Given the description of an element on the screen output the (x, y) to click on. 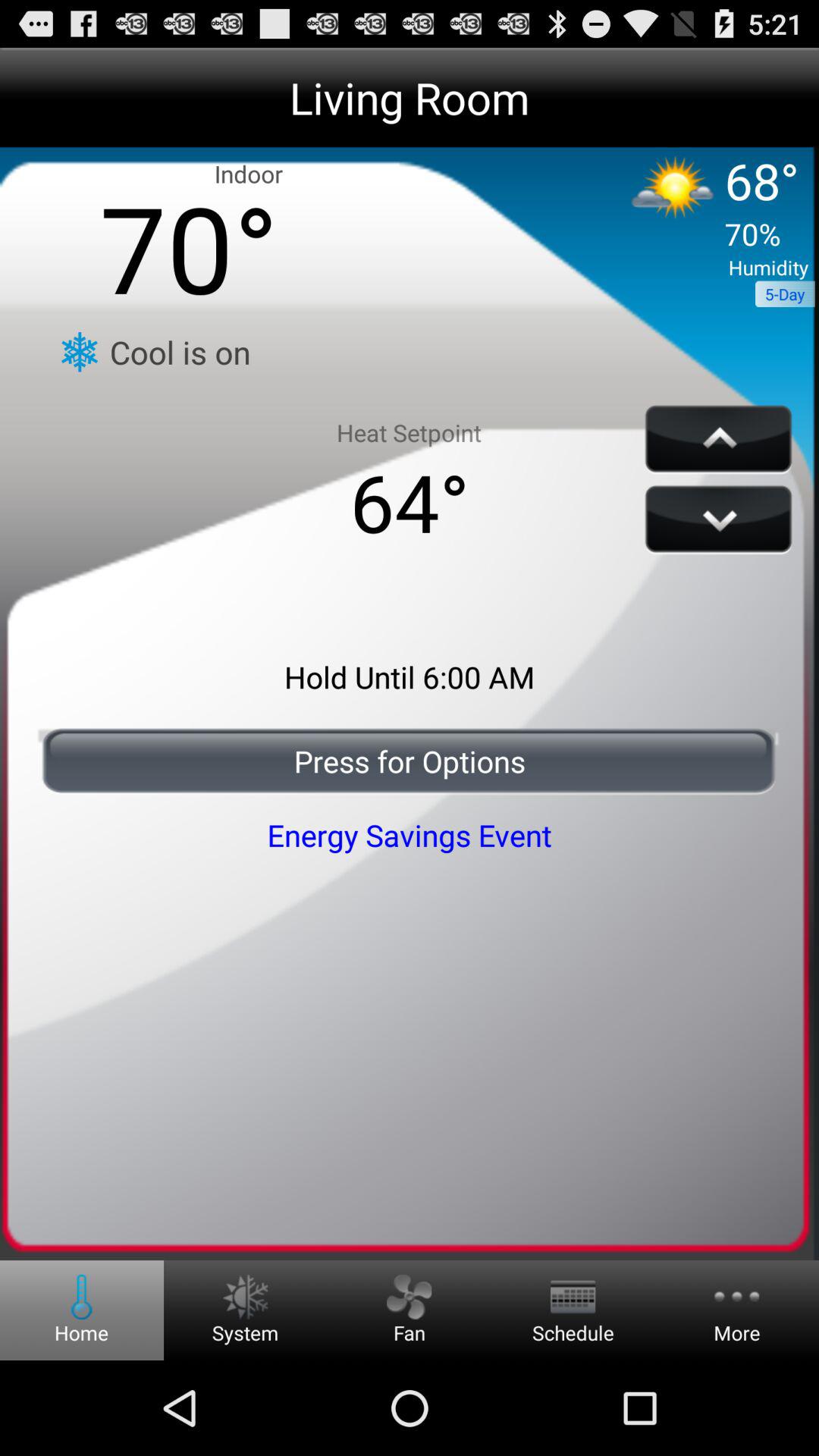
launch the icon next to the indoor (704, 206)
